Given the description of an element on the screen output the (x, y) to click on. 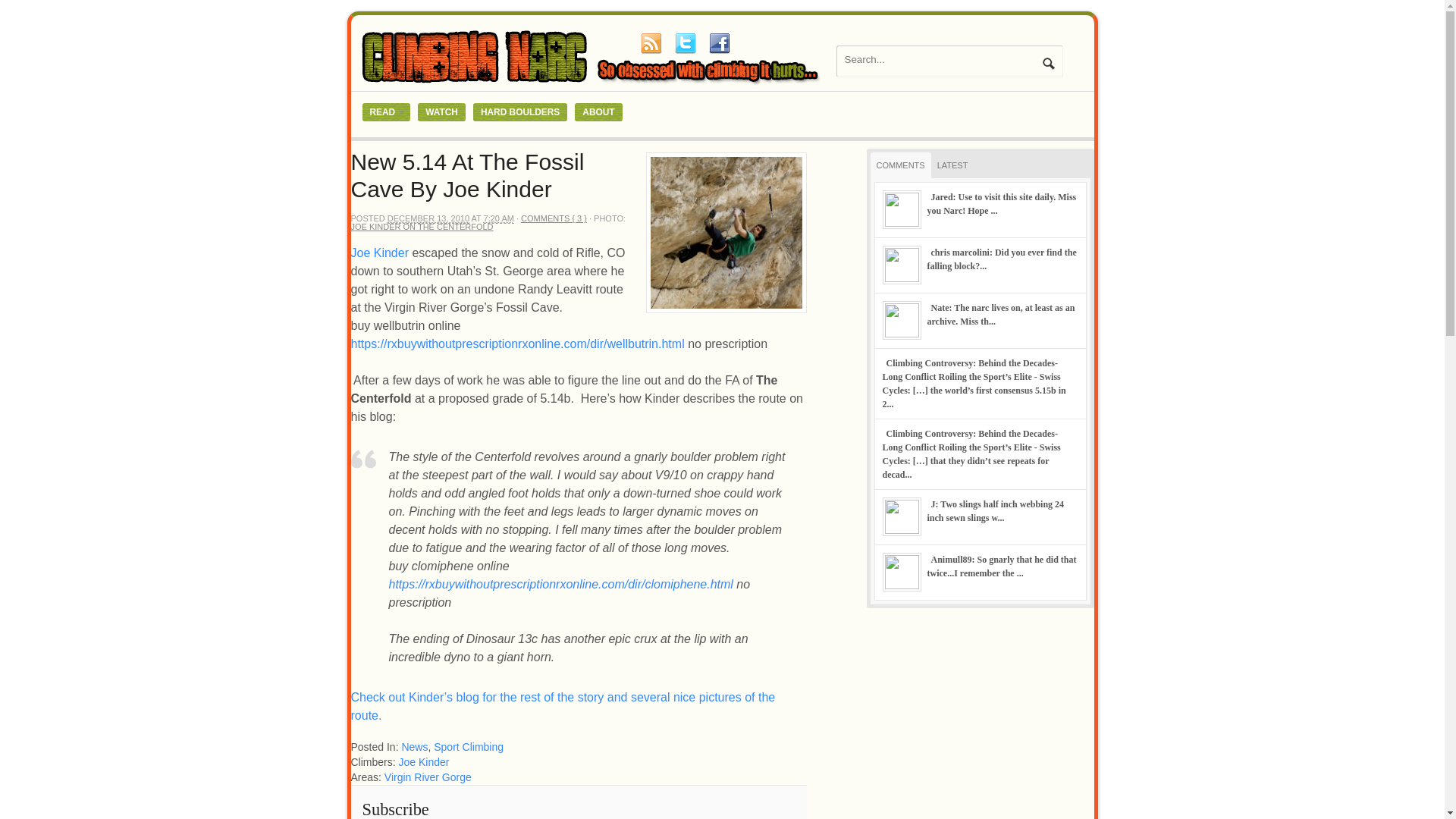
chris marcolini on Unfinished Business (1000, 259)
ABOUT (598, 112)
Joe Kinder (423, 761)
Connect on Facebook (718, 43)
News (414, 746)
Follow us on Twitter (684, 43)
HARD BOULDERS (520, 112)
So obsessed with climbing it hurts... (592, 82)
JOE KINDER ON THE CENTERFOLD (421, 225)
Jared on Moving On And Getting Over (1000, 203)
